Given the description of an element on the screen output the (x, y) to click on. 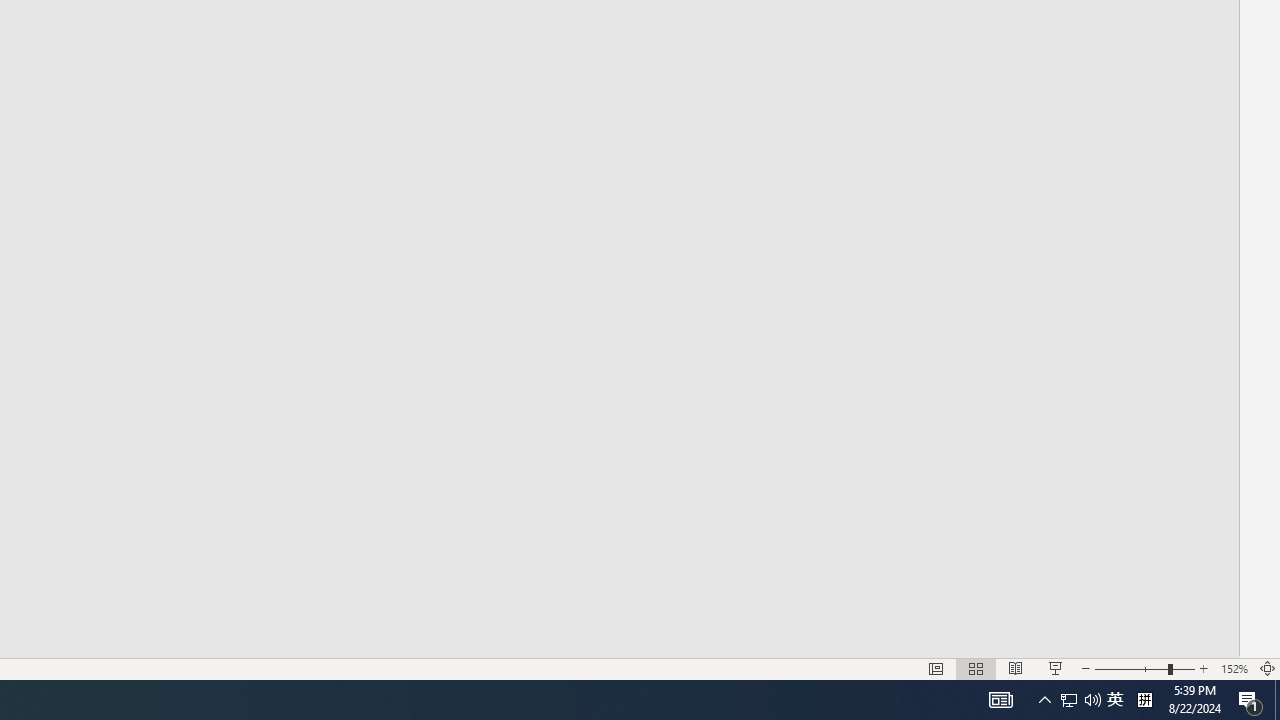
Zoom 152% (1234, 668)
